Given the description of an element on the screen output the (x, y) to click on. 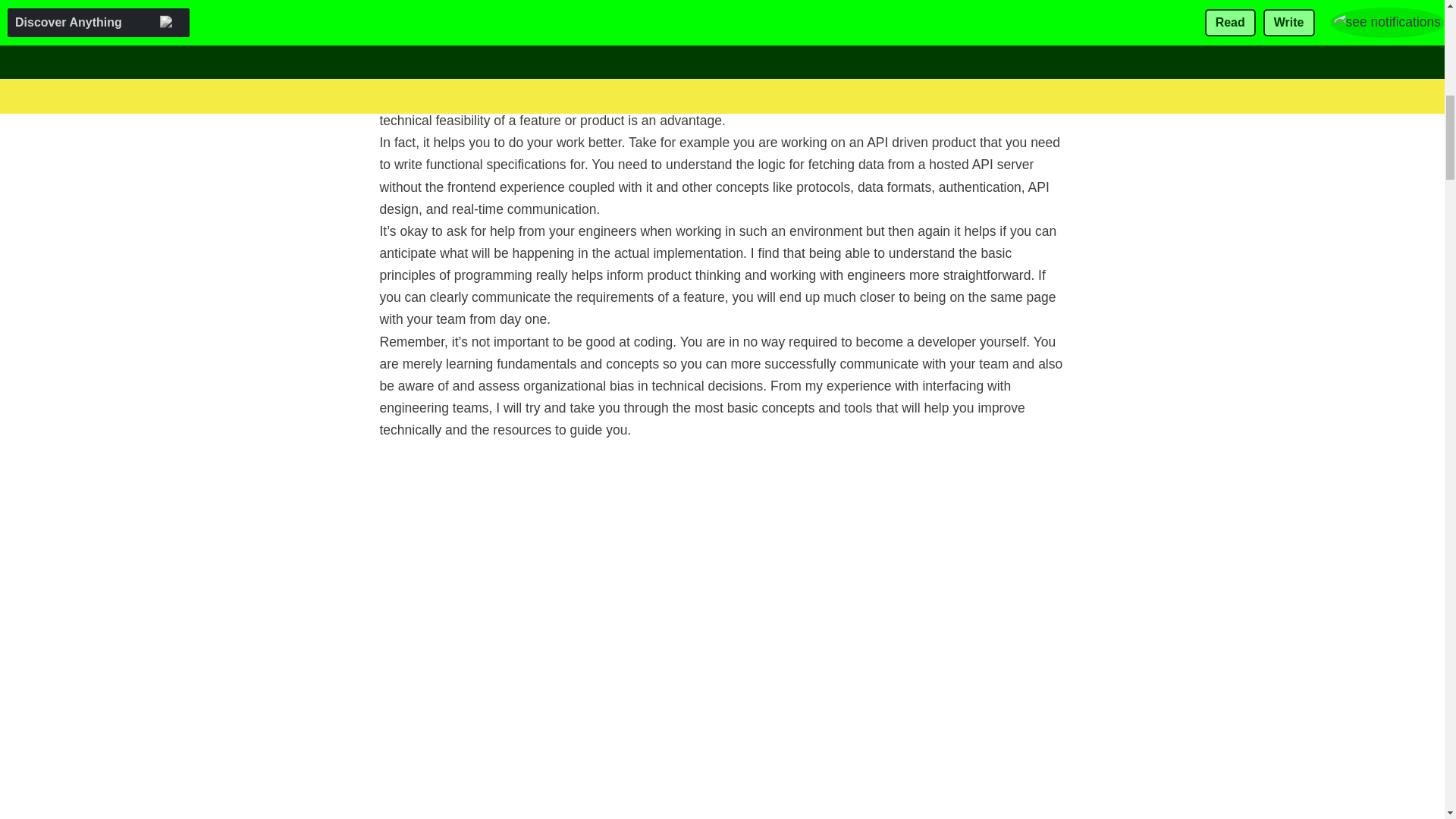
programming (774, 76)
API (885, 54)
